Given the description of an element on the screen output the (x, y) to click on. 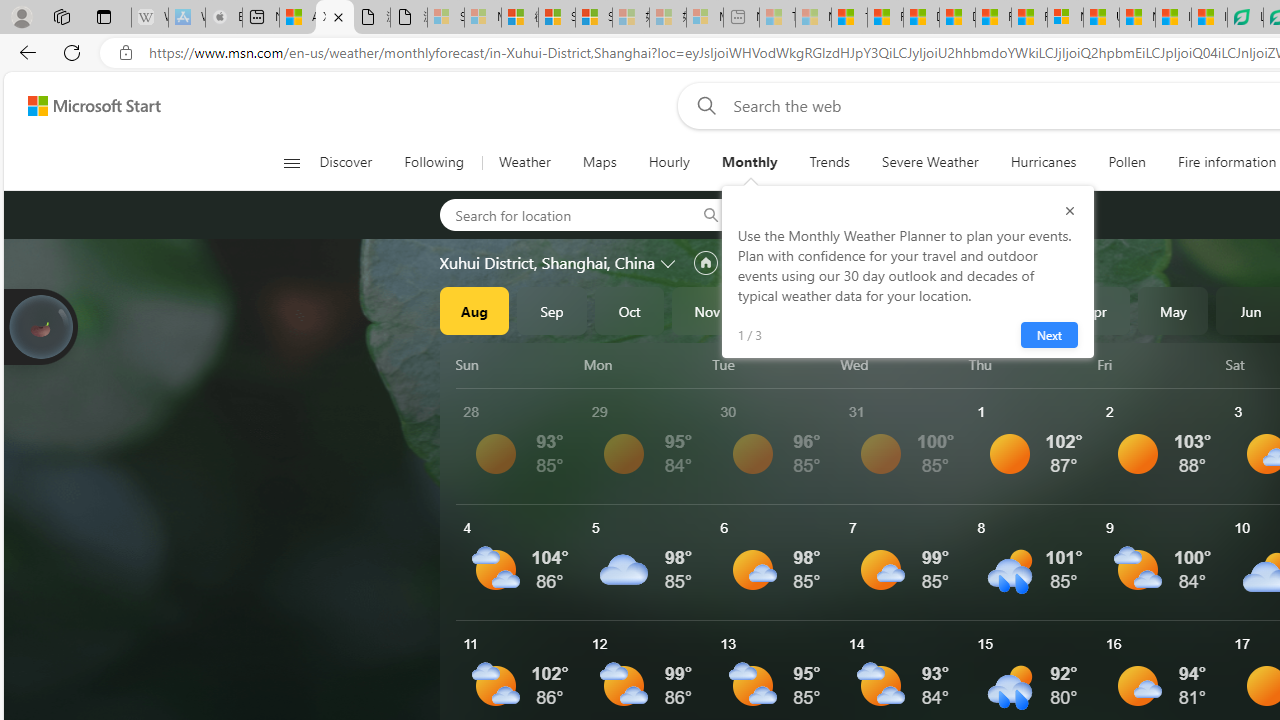
Hurricanes (1043, 162)
Fri (1157, 363)
Mar (1018, 310)
Xuhui District, Shanghai, China (547, 263)
Join us in planting real trees to help our planet! (40, 325)
